Given the description of an element on the screen output the (x, y) to click on. 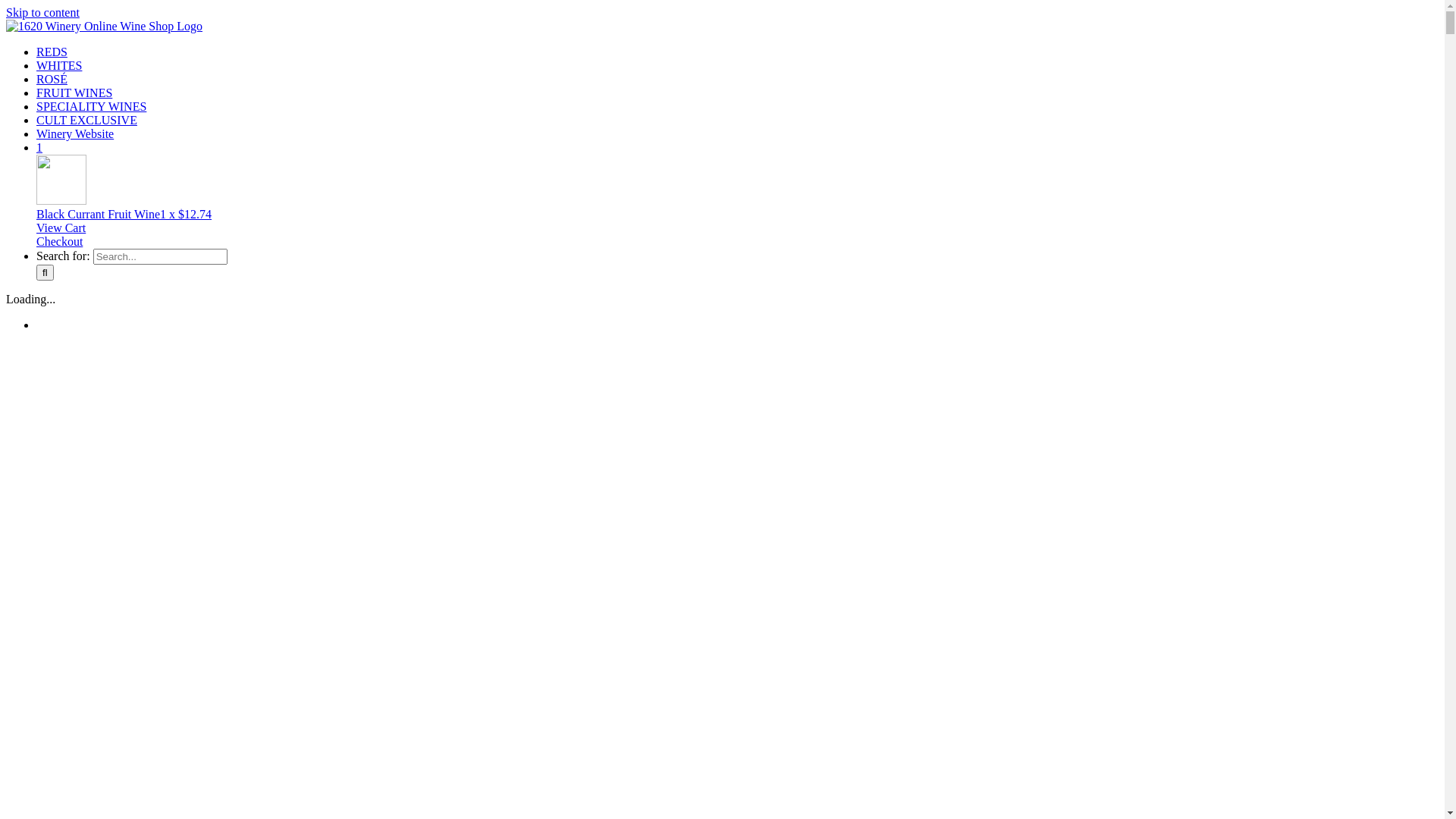
WHITES Element type: text (58, 65)
View Cart Element type: text (60, 227)
SPECIALITY WINES Element type: text (91, 106)
FRUIT WINES Element type: text (74, 92)
Skip to content Element type: text (42, 12)
Winery Website Element type: text (74, 133)
CULT EXCLUSIVE Element type: text (86, 119)
Black Currant Fruit Wine1 x $12.74 Element type: text (737, 207)
1 Element type: text (39, 147)
REDS Element type: text (51, 51)
Checkout Element type: text (59, 241)
